Given the description of an element on the screen output the (x, y) to click on. 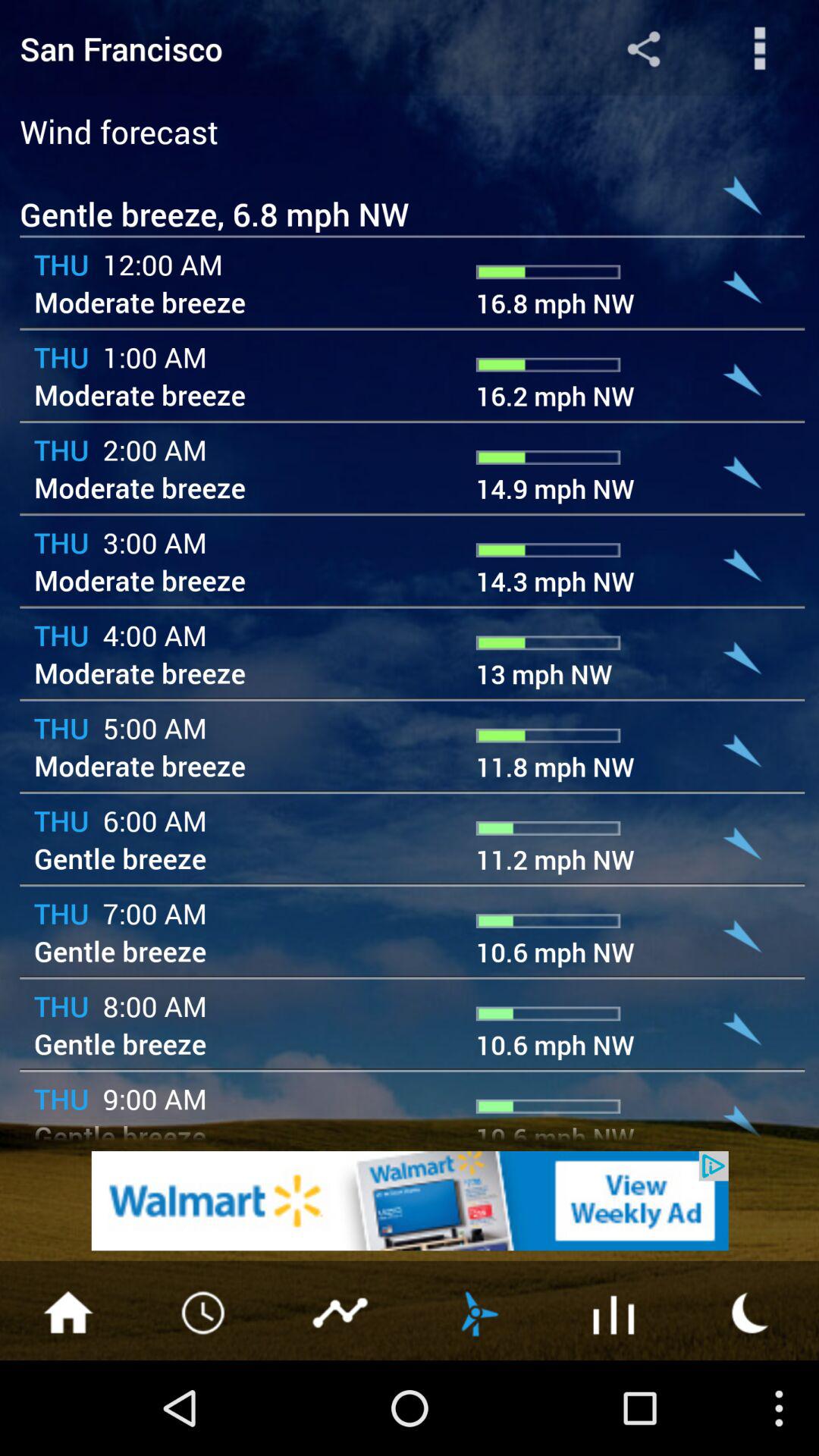
night mode (750, 1311)
